Given the description of an element on the screen output the (x, y) to click on. 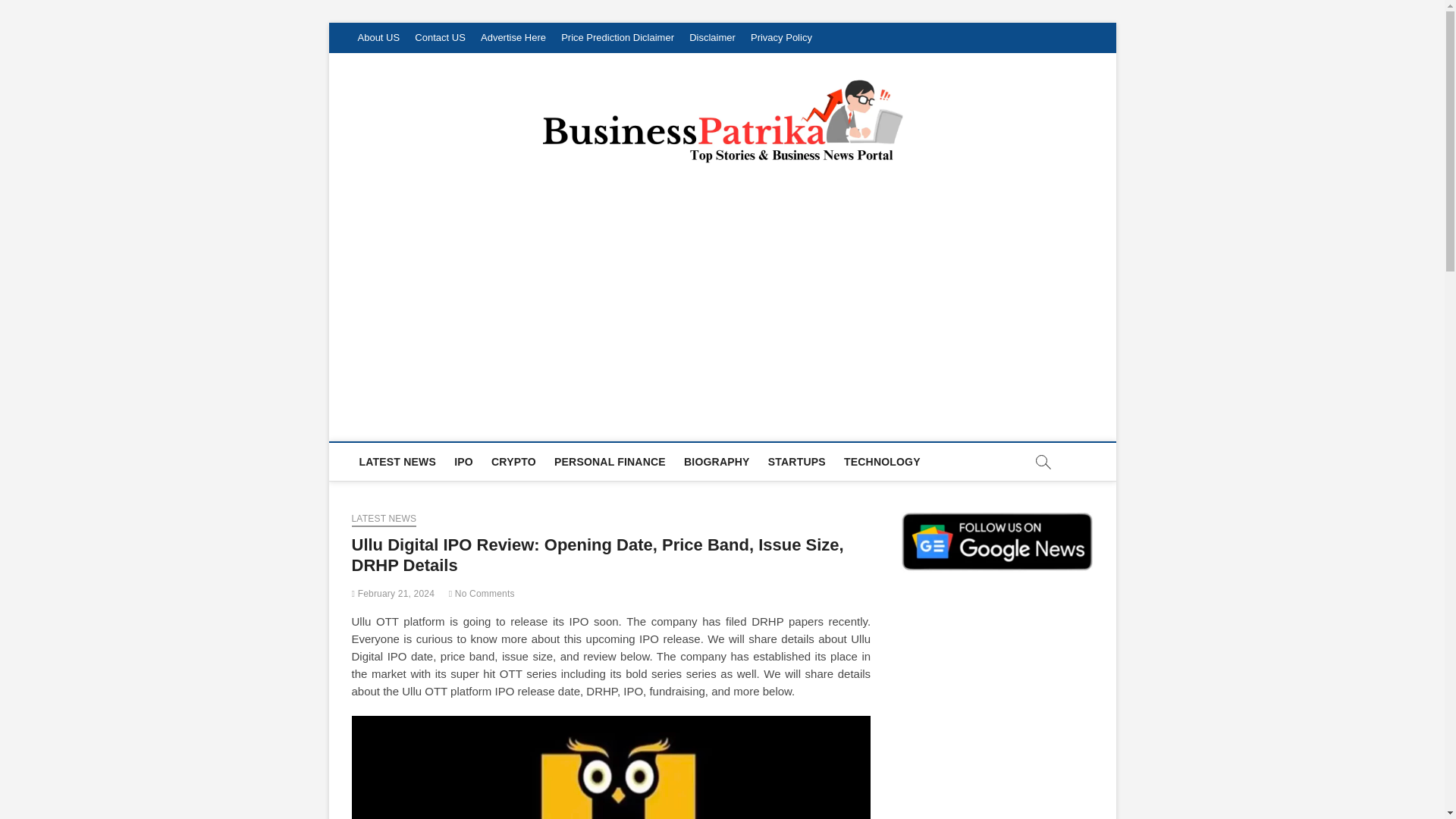
LATEST NEWS (398, 461)
Business Patrika (460, 423)
TECHNOLOGY (881, 461)
LATEST NEWS (384, 520)
February 21, 2024 (393, 593)
Price Prediction Diclaimer (616, 37)
IPO (463, 461)
CRYPTO (513, 461)
STARTUPS (796, 461)
